Given the description of an element on the screen output the (x, y) to click on. 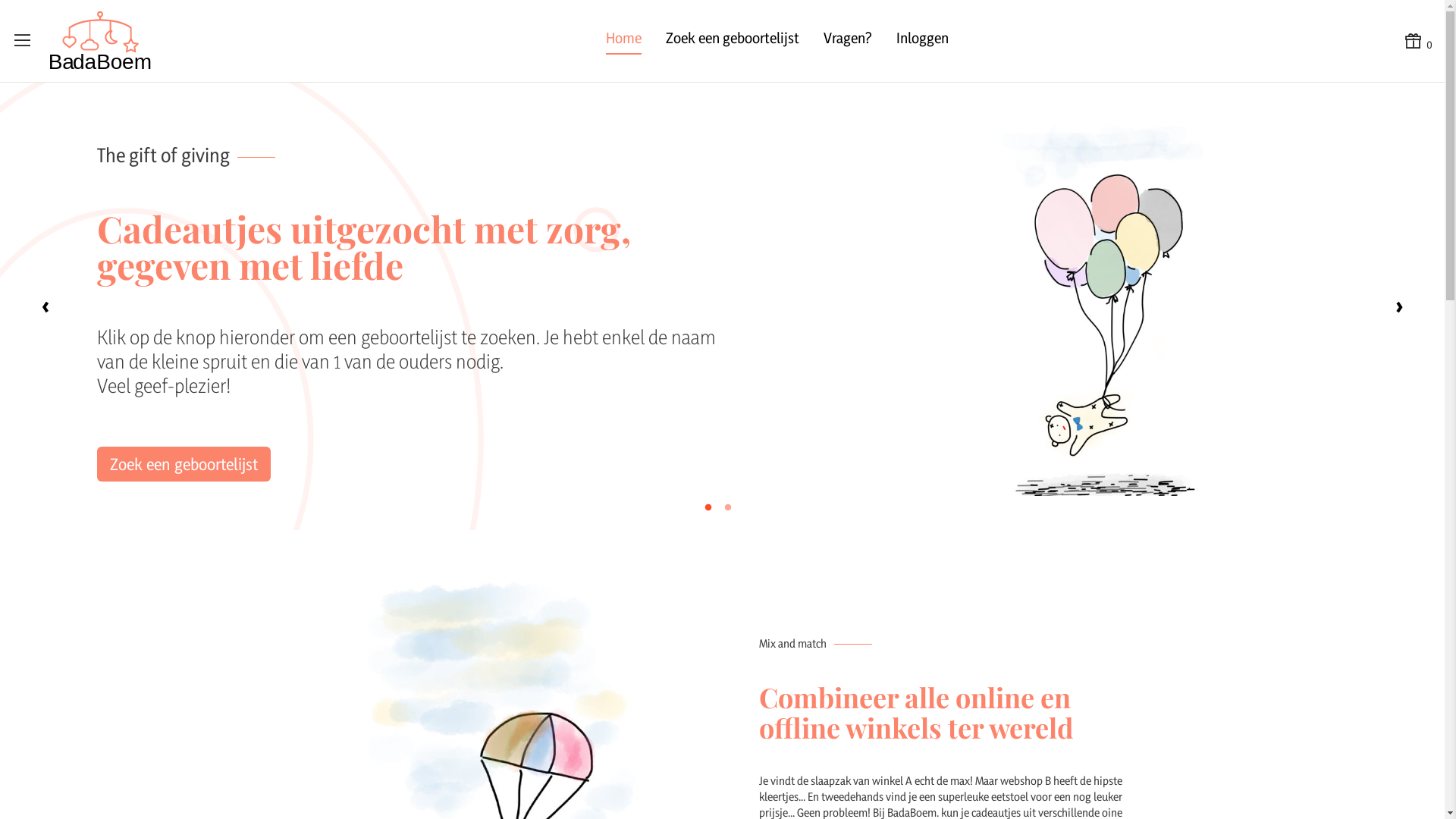
Home Element type: text (623, 40)
Vragen? Element type: text (847, 40)
Inloggen Element type: text (922, 40)
0 Element type: text (1417, 41)
Zoek een geboortelijst Element type: text (732, 40)
Zoek een geboortelijst Element type: text (183, 463)
